Given the description of an element on the screen output the (x, y) to click on. 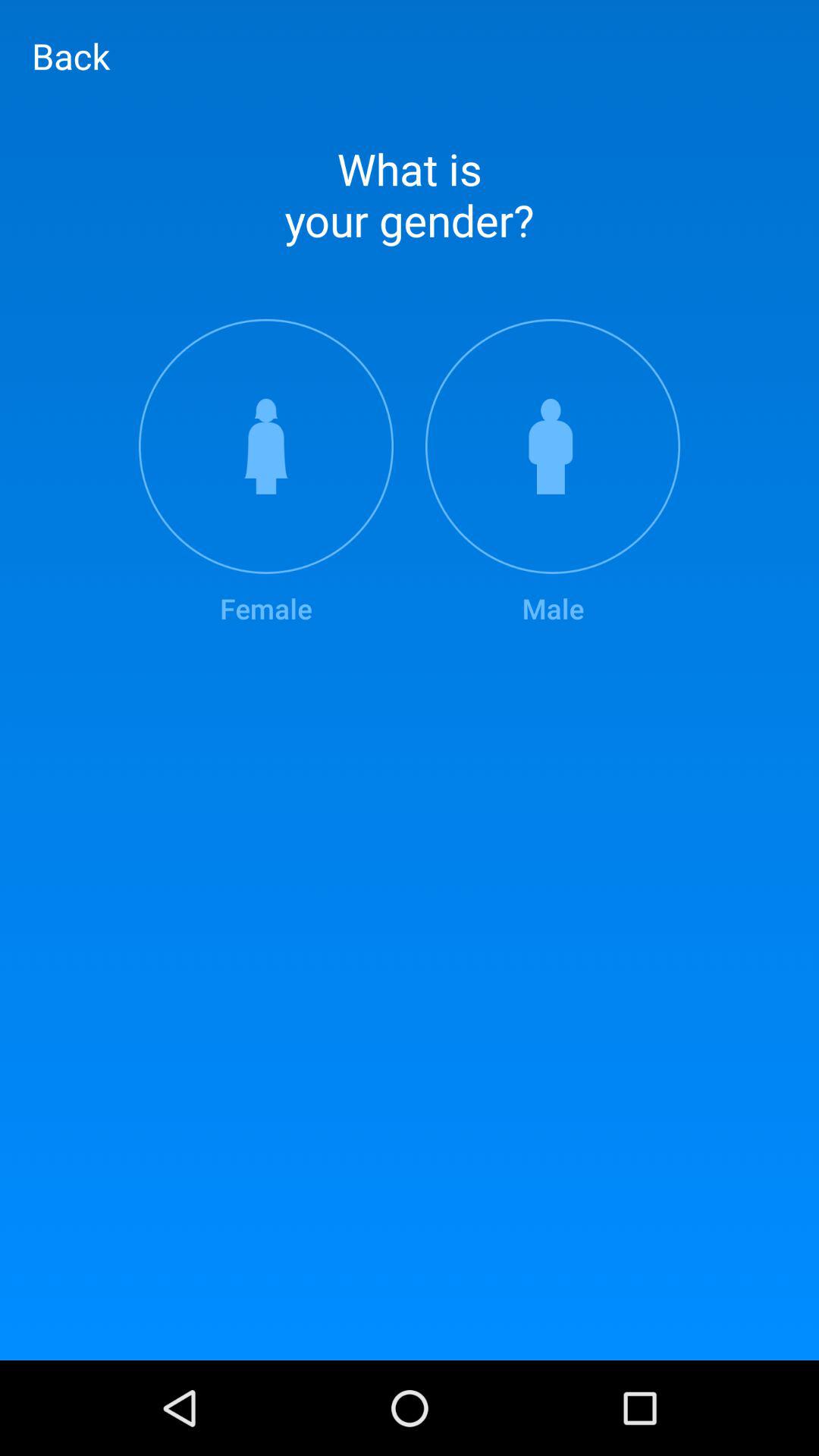
choose the item at the top right corner (552, 473)
